Given the description of an element on the screen output the (x, y) to click on. 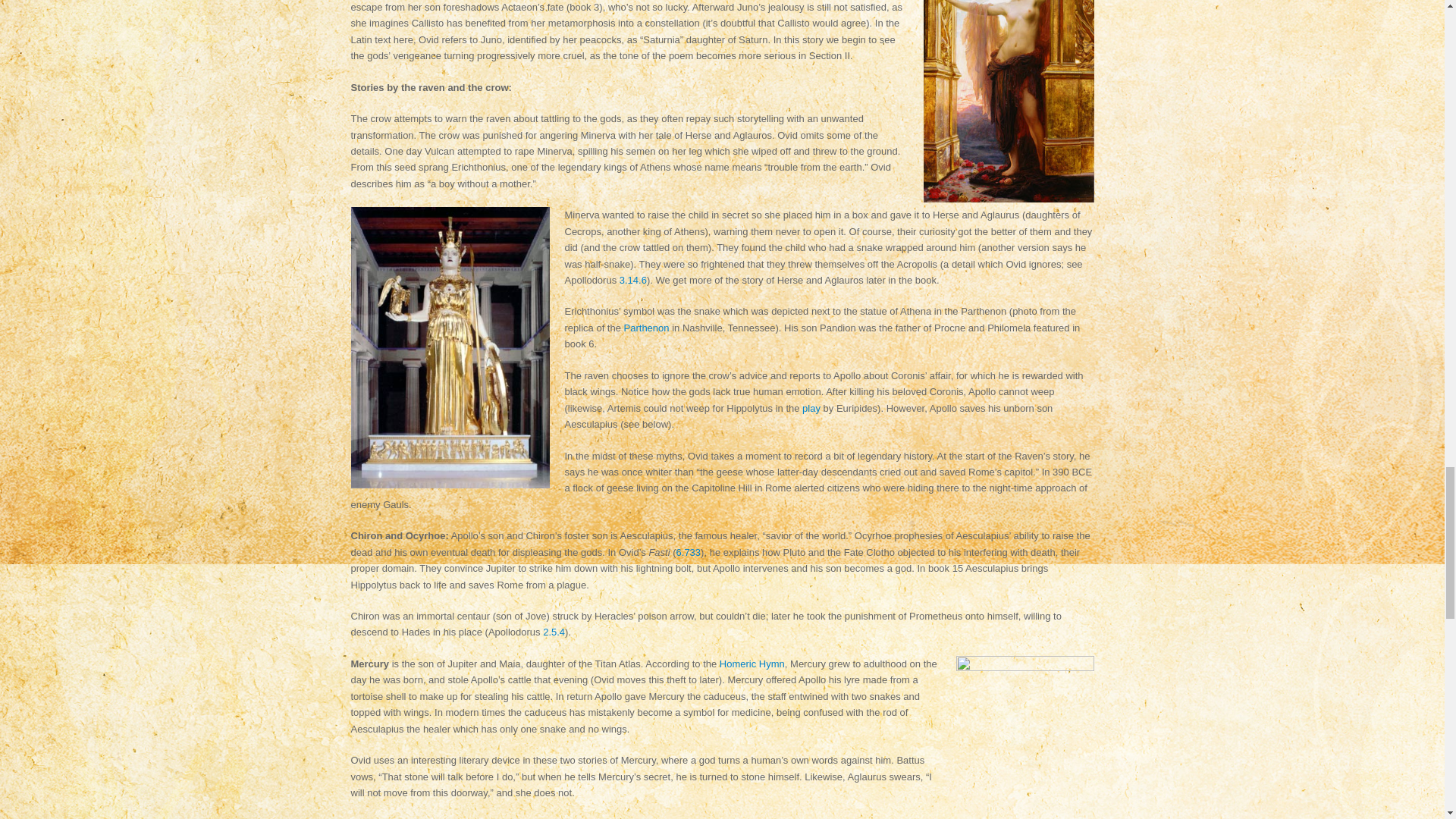
Homeric Hymn (751, 663)
6.733 (689, 552)
2.5.4 (553, 632)
3.14.6 (633, 279)
Parthenon (646, 327)
play (811, 408)
